Given the description of an element on the screen output the (x, y) to click on. 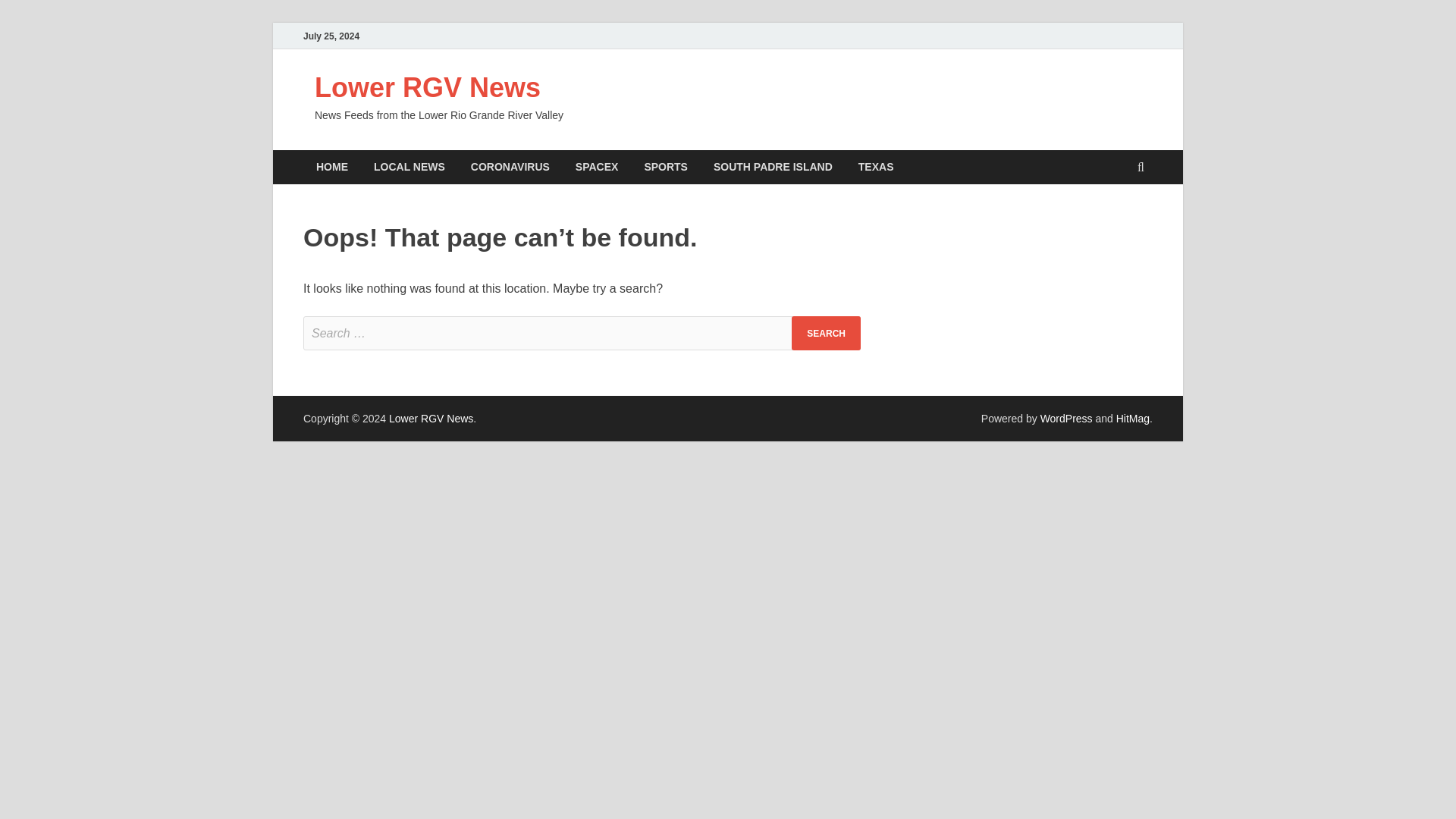
CORONAVIRUS (510, 166)
SPACEX (596, 166)
Search (826, 333)
SPORTS (665, 166)
HOME (331, 166)
Search (826, 333)
SOUTH PADRE ISLAND (772, 166)
TEXAS (876, 166)
Lower RGV News (427, 87)
LOCAL NEWS (409, 166)
Search (826, 333)
